Given the description of an element on the screen output the (x, y) to click on. 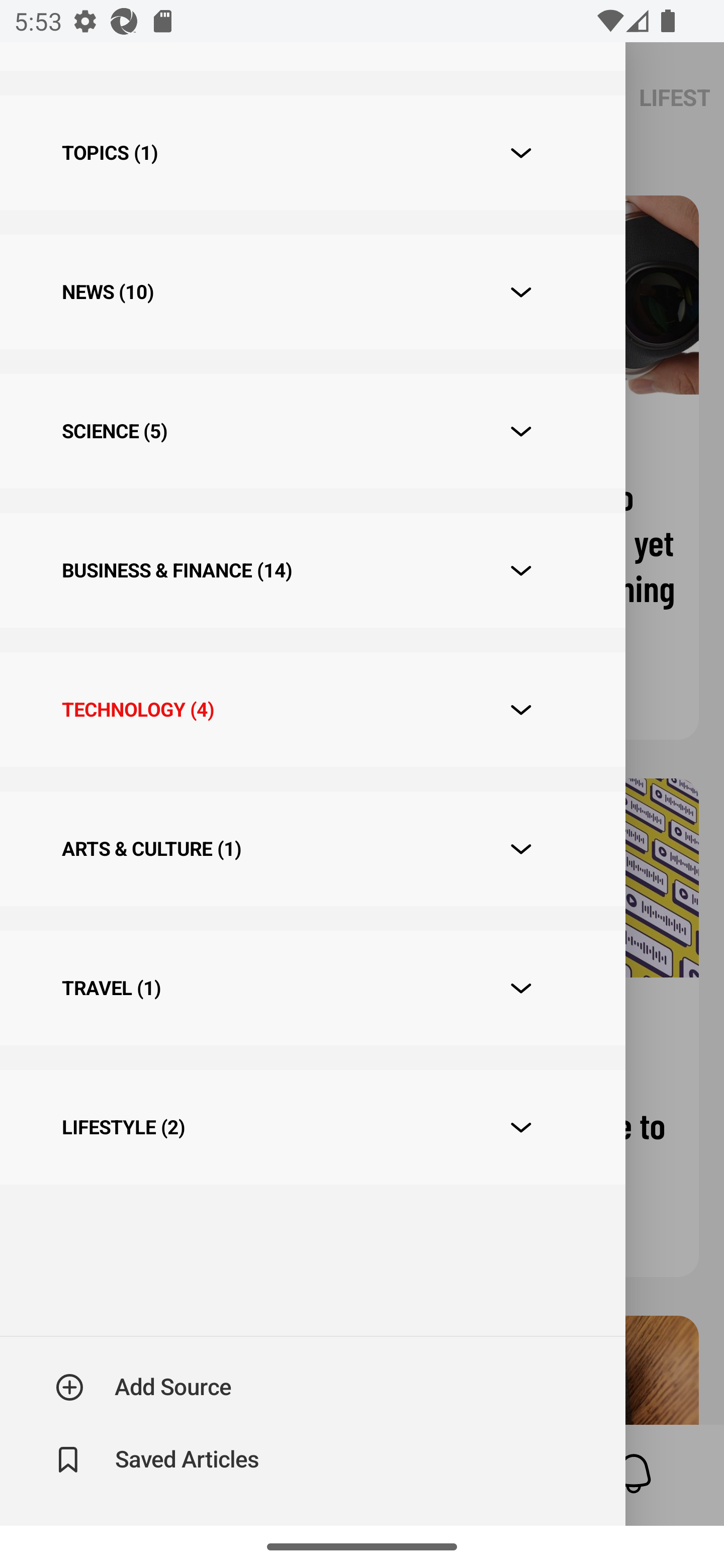
TOPICS  (1) Expand Button (312, 152)
Expand Button (521, 153)
NEWS  (10) Expand Button (312, 292)
Expand Button (521, 291)
SCIENCE  (5) Expand Button (312, 431)
Expand Button (521, 430)
BUSINESS & FINANCE  (14) Expand Button (312, 569)
Expand Button (521, 570)
TECHNOLOGY  (4) Expand Button (312, 709)
Expand Button (521, 709)
ARTS & CULTURE  (1) Expand Button (312, 848)
Expand Button (521, 849)
TRAVEL  (1) Expand Button (312, 988)
Expand Button (521, 988)
LIFESTYLE  (2) Expand Button (312, 1126)
Expand Button (521, 1127)
Open Content Store Add Source (143, 1387)
Open Saved News  Saved Articles (158, 1459)
